Given the description of an element on the screen output the (x, y) to click on. 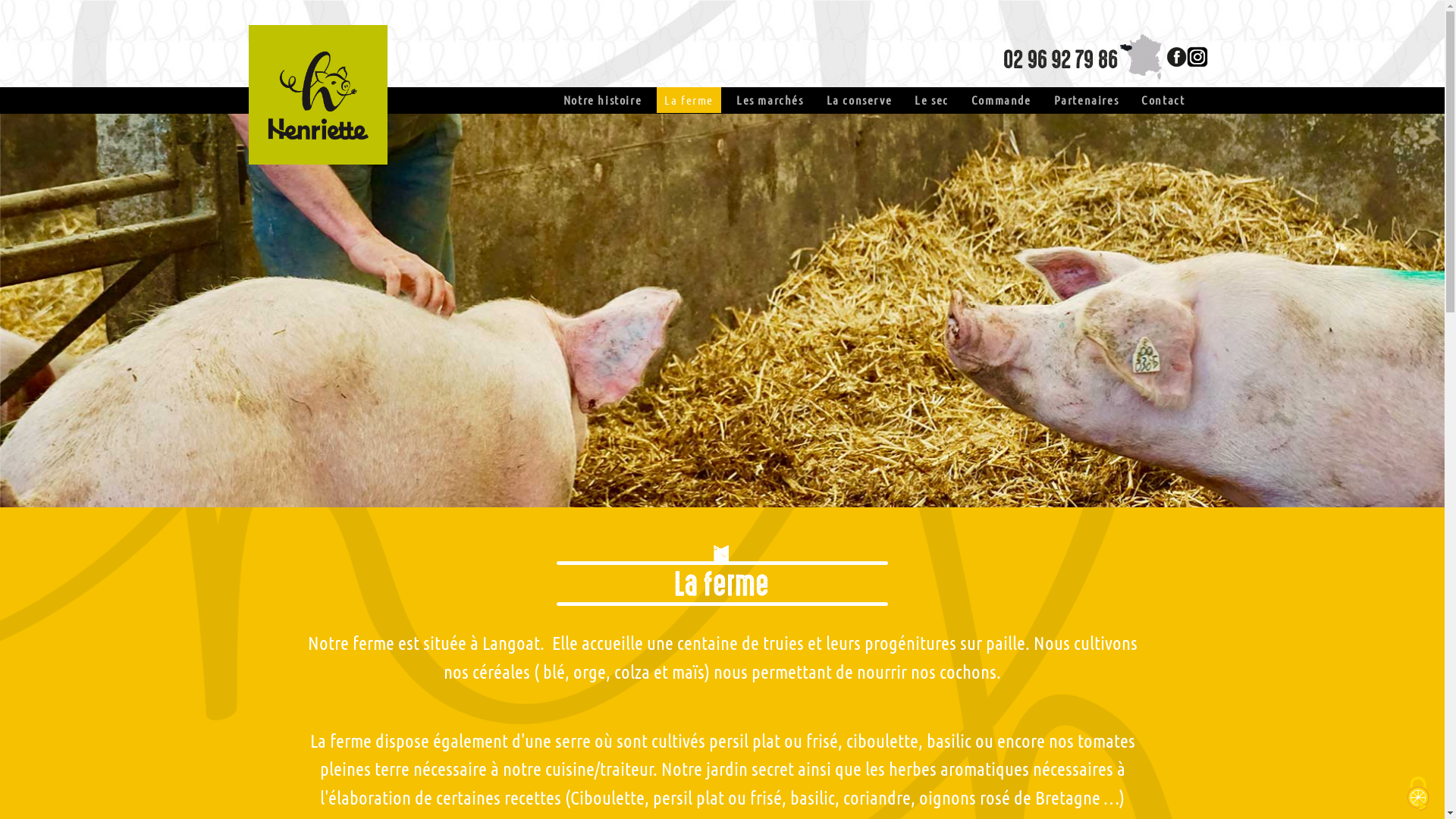
Le sec Element type: text (931, 99)
Commande Element type: text (1001, 99)
Contact Element type: text (1162, 99)
Notre histoire Element type: text (602, 99)
Partenaires Element type: text (1086, 99)
La conserve Element type: text (859, 99)
La ferme Element type: text (688, 99)
Cookies (modal window) Element type: hover (1418, 793)
